Given the description of an element on the screen output the (x, y) to click on. 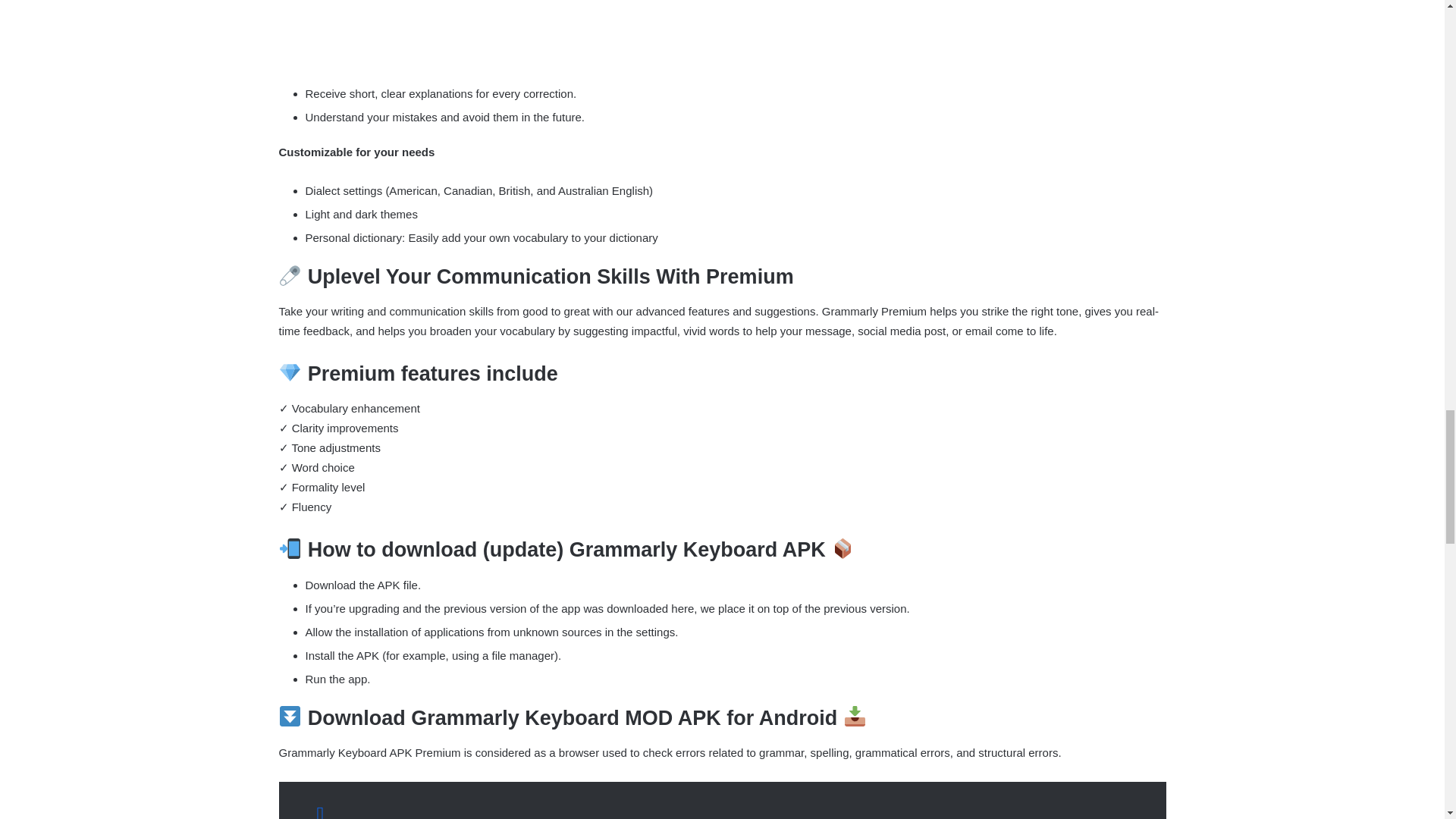
Advertisement (722, 37)
